Given the description of an element on the screen output the (x, y) to click on. 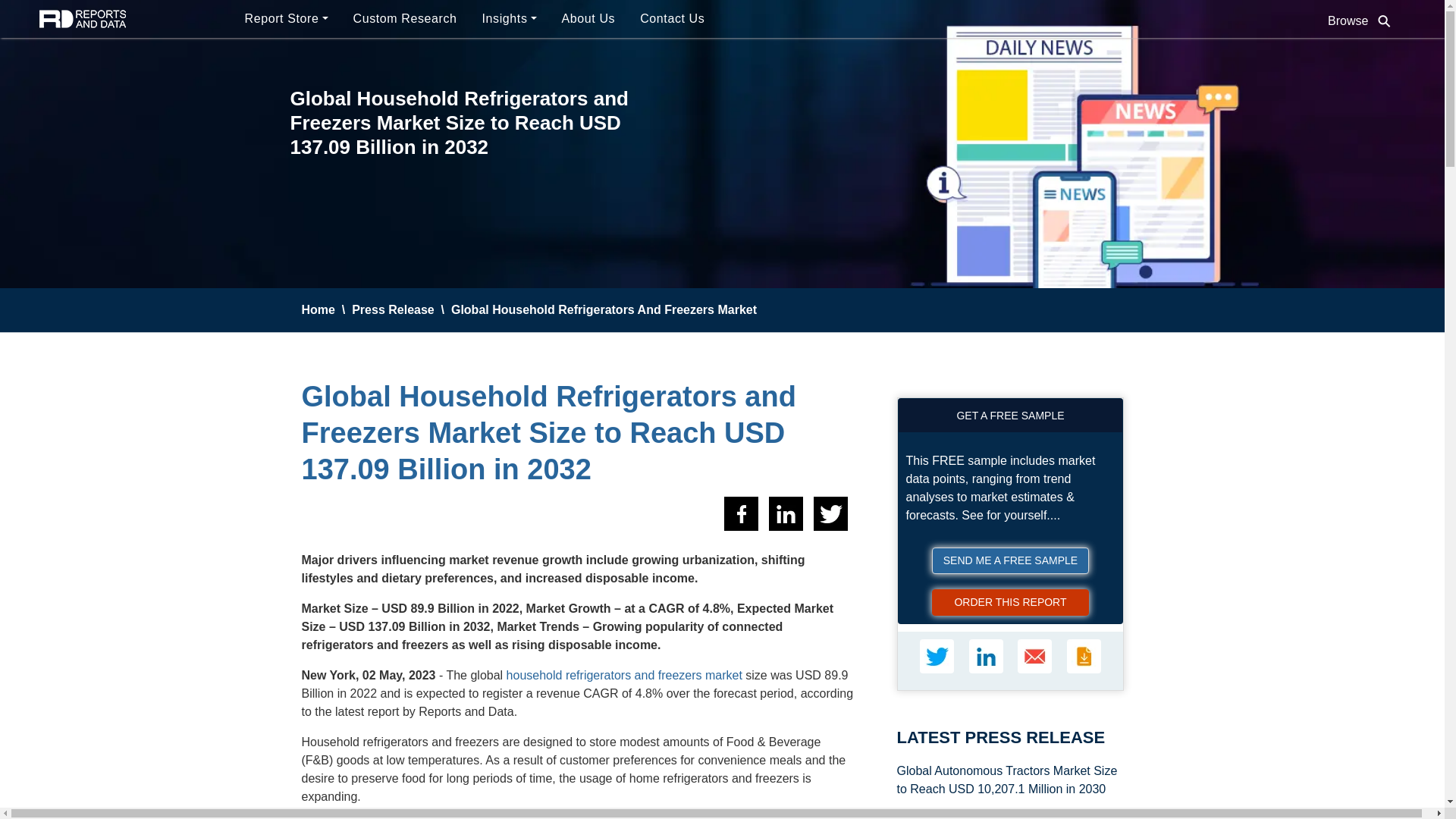
About Us (591, 19)
ORDER THIS REPORT (1010, 601)
Contact Us (675, 19)
household refrigerators and freezers market (624, 675)
SEND ME A FREE SAMPLE (1010, 560)
Report Store (288, 19)
Insights (512, 19)
Share by Email (1034, 656)
Custom Research (408, 19)
Home (317, 309)
Press Release (392, 309)
